Given the description of an element on the screen output the (x, y) to click on. 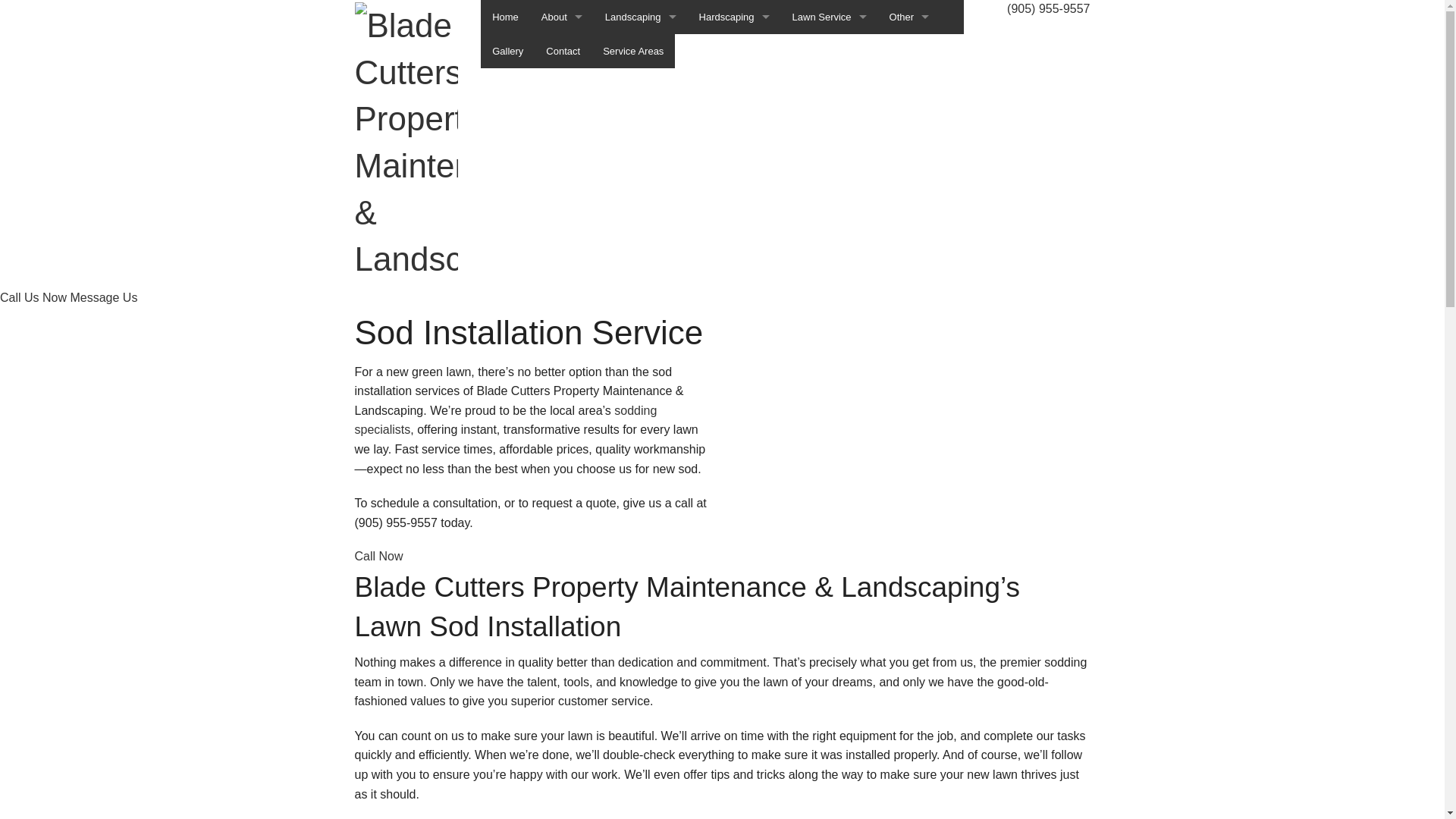
About Element type: text (561, 17)
Blade Cutters Property Maintenance & Landscaping Element type: hover (406, 139)
Sprinkler System Repair Element type: text (909, 324)
FAQ Element type: text (561, 85)
sodding specialists Element type: text (505, 420)
Blog Element type: text (561, 51)
Landscape Design Services Element type: text (640, 119)
Leaf Removal Element type: text (909, 119)
Lawn Service Element type: text (829, 17)
Lawn Care Services Element type: text (829, 85)
Landscaping Element type: text (640, 17)
Call Now Element type: text (378, 555)
Commercial Snow Removal Element type: text (909, 51)
Testimonials Element type: text (561, 119)
Paver Installation Element type: text (734, 153)
Call Us Now Element type: text (34, 297)
Fall Yard Clean-Up Element type: text (909, 85)
Landscape Architecture Services Element type: text (640, 85)
Residential Snow Removal Element type: text (909, 153)
Sprinkler Installation Element type: text (909, 290)
Home Element type: text (505, 17)
Message Us Element type: text (103, 297)
Outdoor Kitchen Construction Element type: text (734, 85)
Lawn Maintenance Services Element type: text (829, 119)
Lawn Aeration Service Element type: text (829, 51)
(905) 955-9557 Element type: text (1048, 8)
Retaining Wall Construction Element type: text (734, 187)
Landscape Lighting Services Element type: text (640, 153)
Sod Installation Service Element type: text (909, 221)
Gardening Services Element type: text (640, 51)
Lawn Mowing Services Element type: text (829, 153)
Hardscaping Element type: text (734, 17)
Hardscaping Services Element type: text (734, 51)
Landscaping Company Element type: text (640, 187)
Snow Removal Element type: text (909, 187)
Landscaping Services Element type: text (640, 221)
Patio Construction Element type: text (734, 119)
Contact Element type: text (562, 51)
Service Areas Element type: text (632, 51)
Gallery Element type: text (507, 51)
Weed Control Service Element type: text (829, 187)
Other Element type: text (909, 17)
Sprinkler Blowouts Element type: text (909, 255)
